Given the description of an element on the screen output the (x, y) to click on. 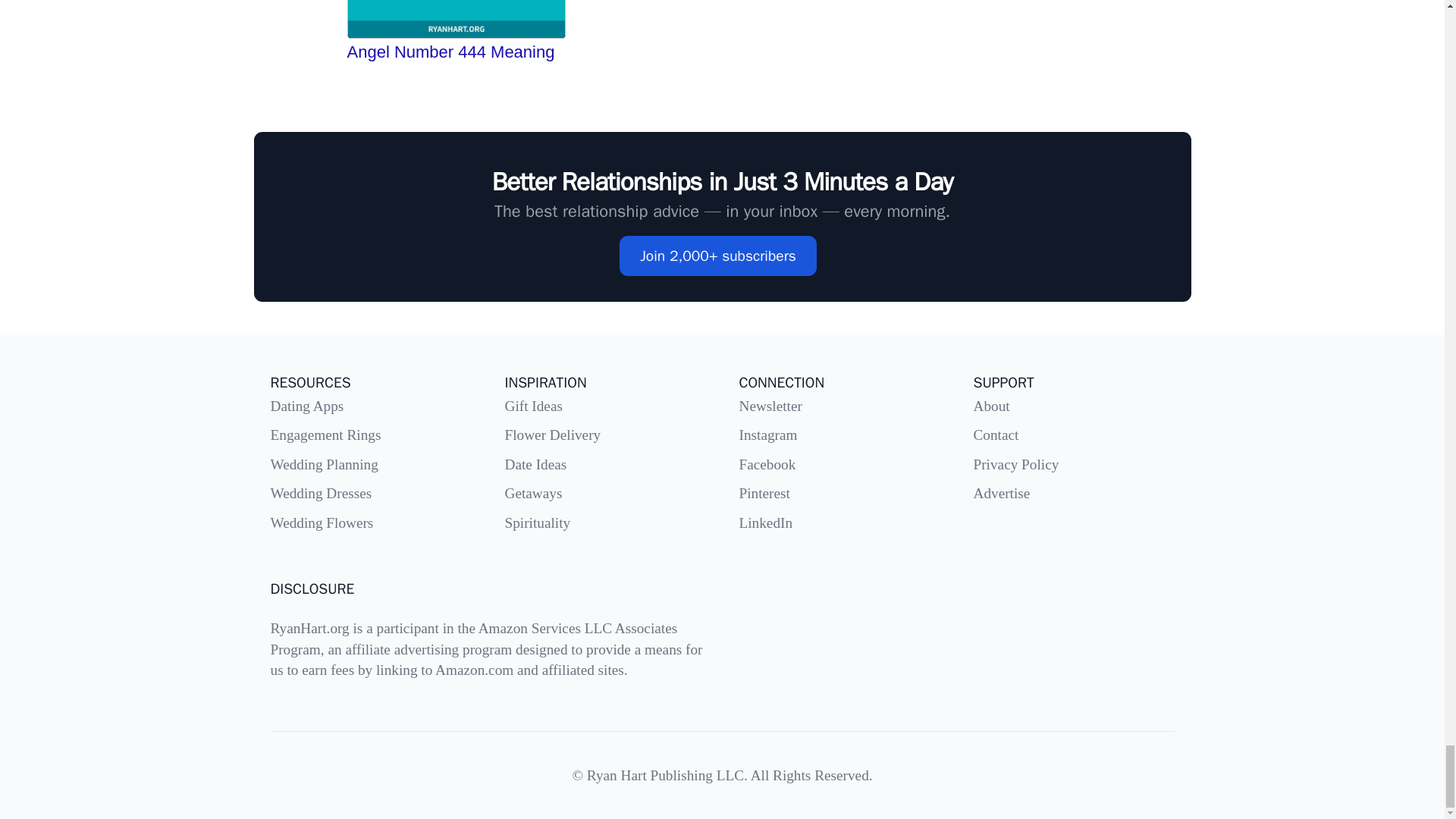
Wedding Planning (323, 464)
Engagement Rings (324, 434)
Wedding Dresses (320, 493)
Dating Apps (306, 406)
